Given the description of an element on the screen output the (x, y) to click on. 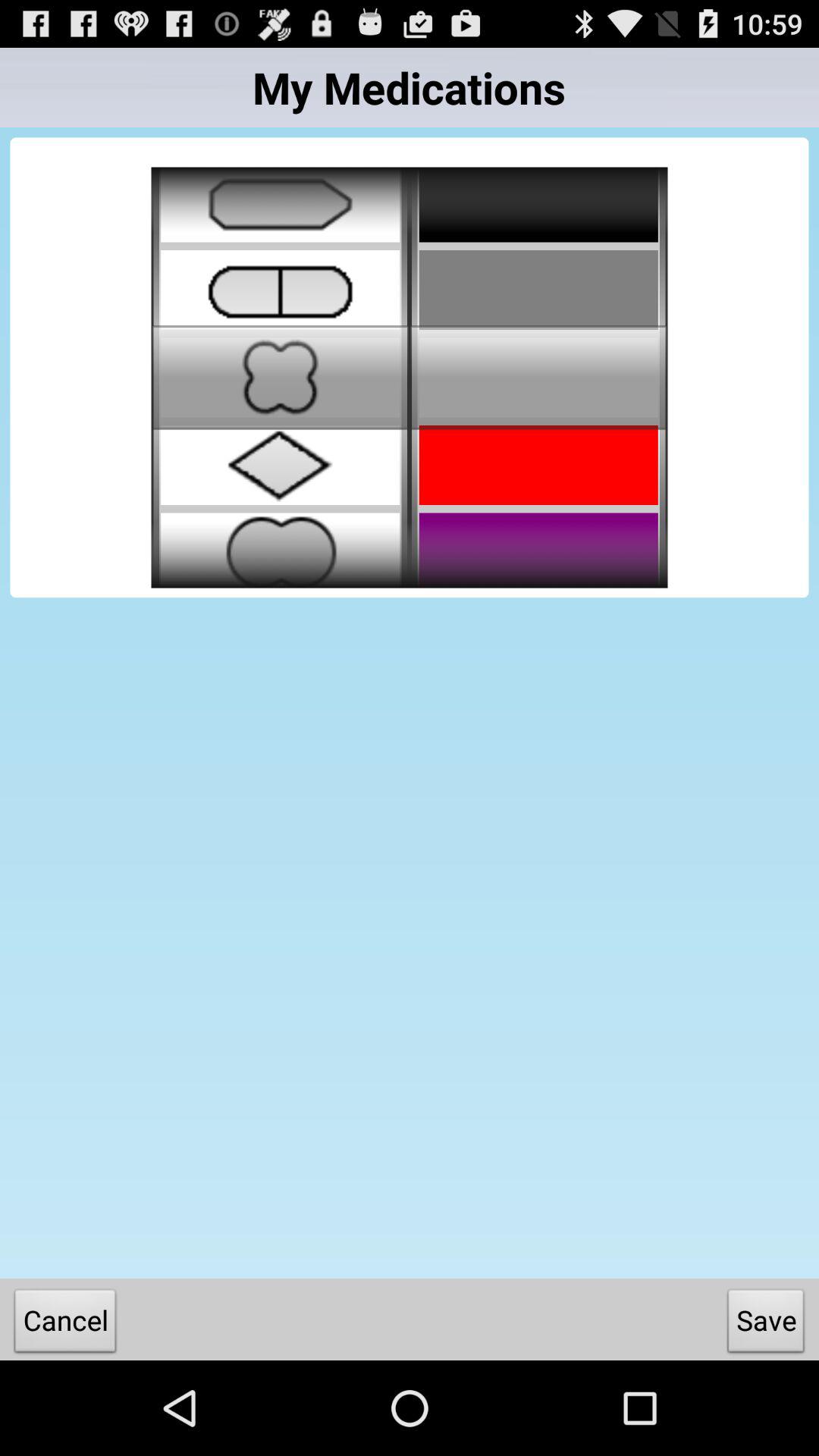
turn on the button to the left of the save button (65, 1324)
